Given the description of an element on the screen output the (x, y) to click on. 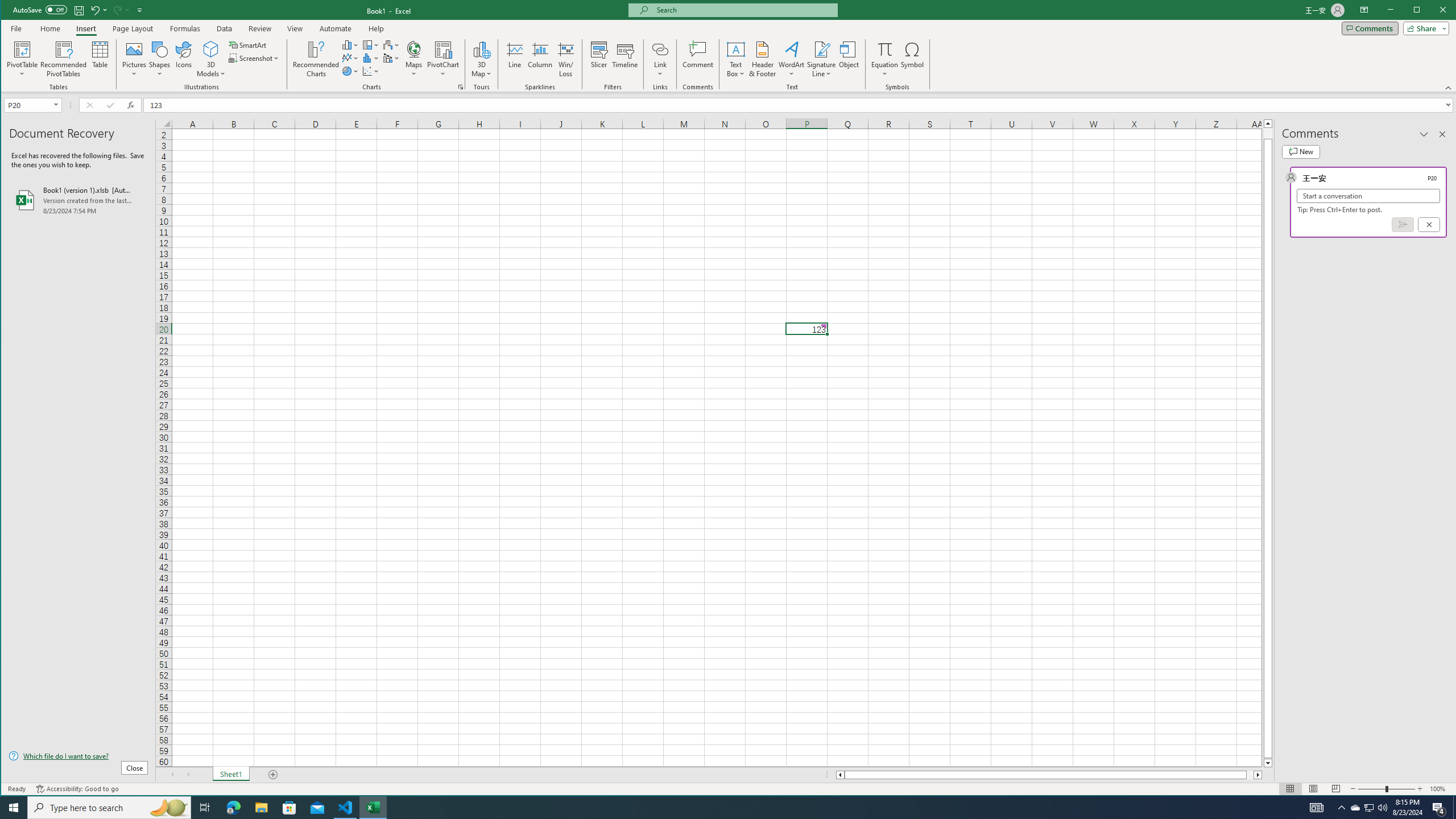
Running applications (717, 807)
Draw Horizontal Text Box (735, 48)
PivotTable (22, 48)
Excel - 1 running window (373, 807)
Link (659, 48)
